Given the description of an element on the screen output the (x, y) to click on. 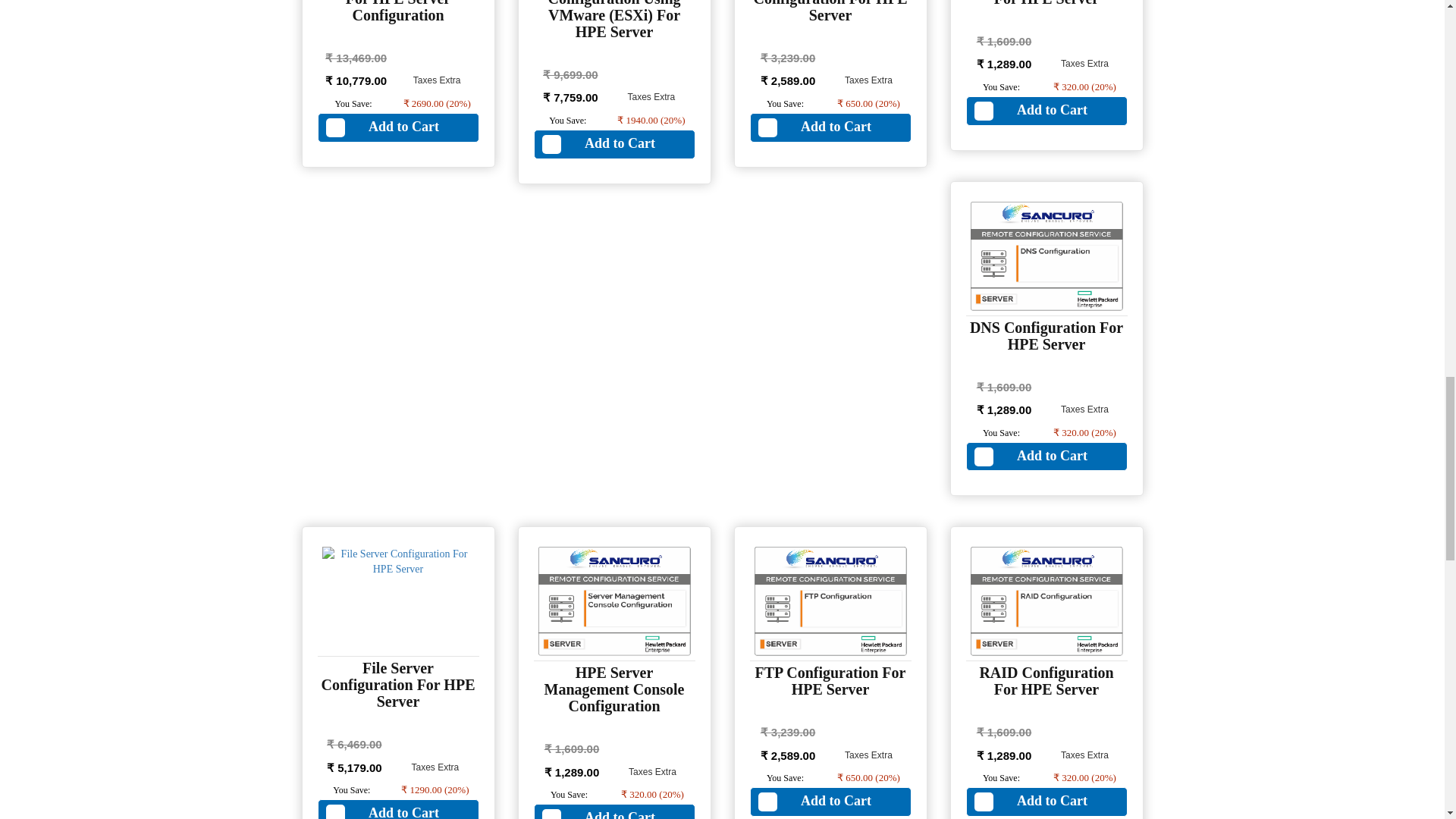
DNS Configuration For HPE Server (1045, 335)
RAID Configuration For HPE Server (1045, 680)
FTP Configuration For HPE Server (830, 680)
File Server Configuration For HPE Server (398, 685)
Troubleshooting services For HPE Server Configuration (398, 11)
HPE Server Management Console Configuration (614, 689)
DHCP Configuration For HPE Server (1045, 3)
Backup Service Configuration For HPE Server (830, 11)
